Given the description of an element on the screen output the (x, y) to click on. 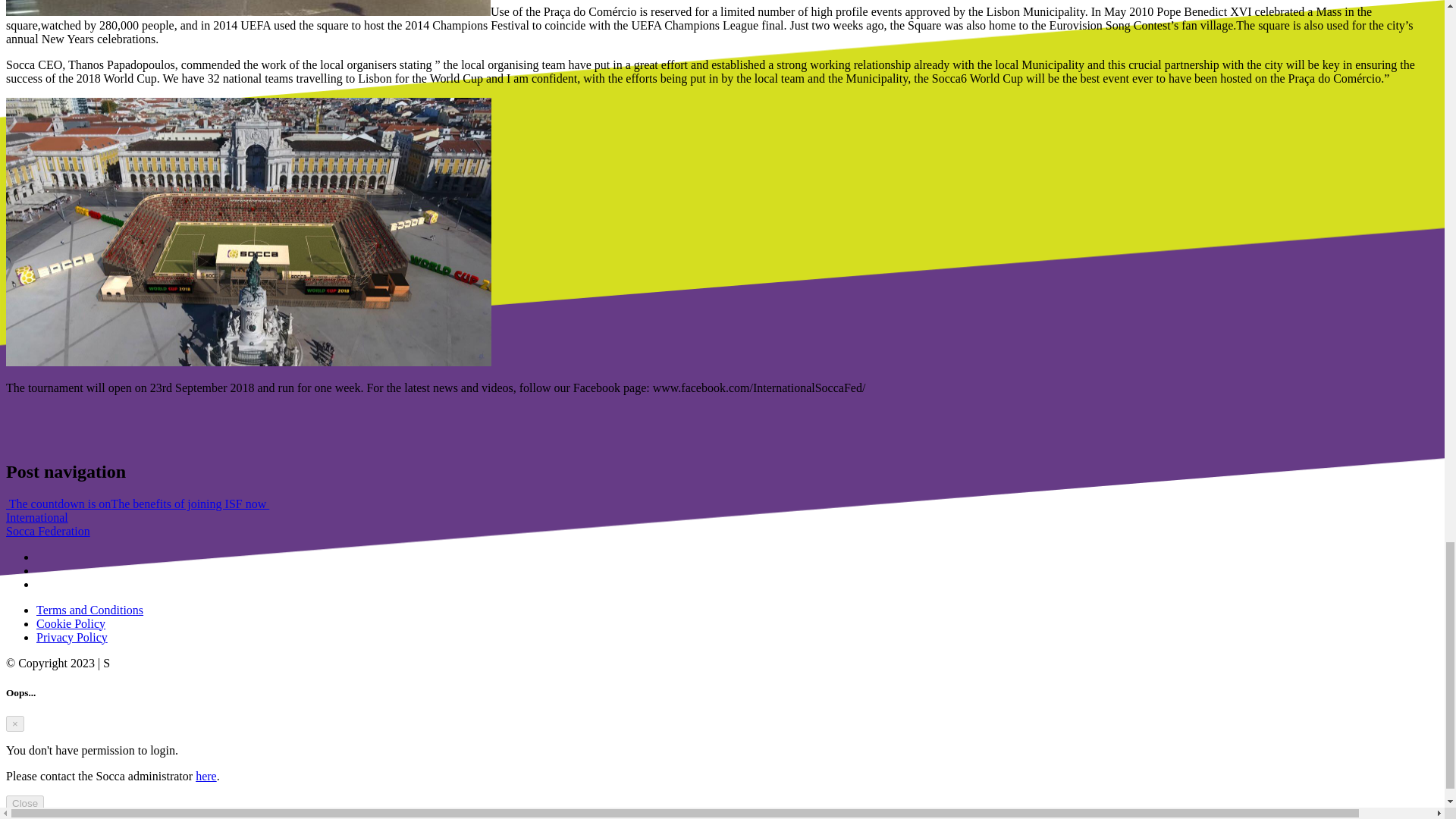
The benefits of joining ISF now  (189, 503)
 The countdown is on (57, 503)
Terms and Conditions (47, 524)
